Given the description of an element on the screen output the (x, y) to click on. 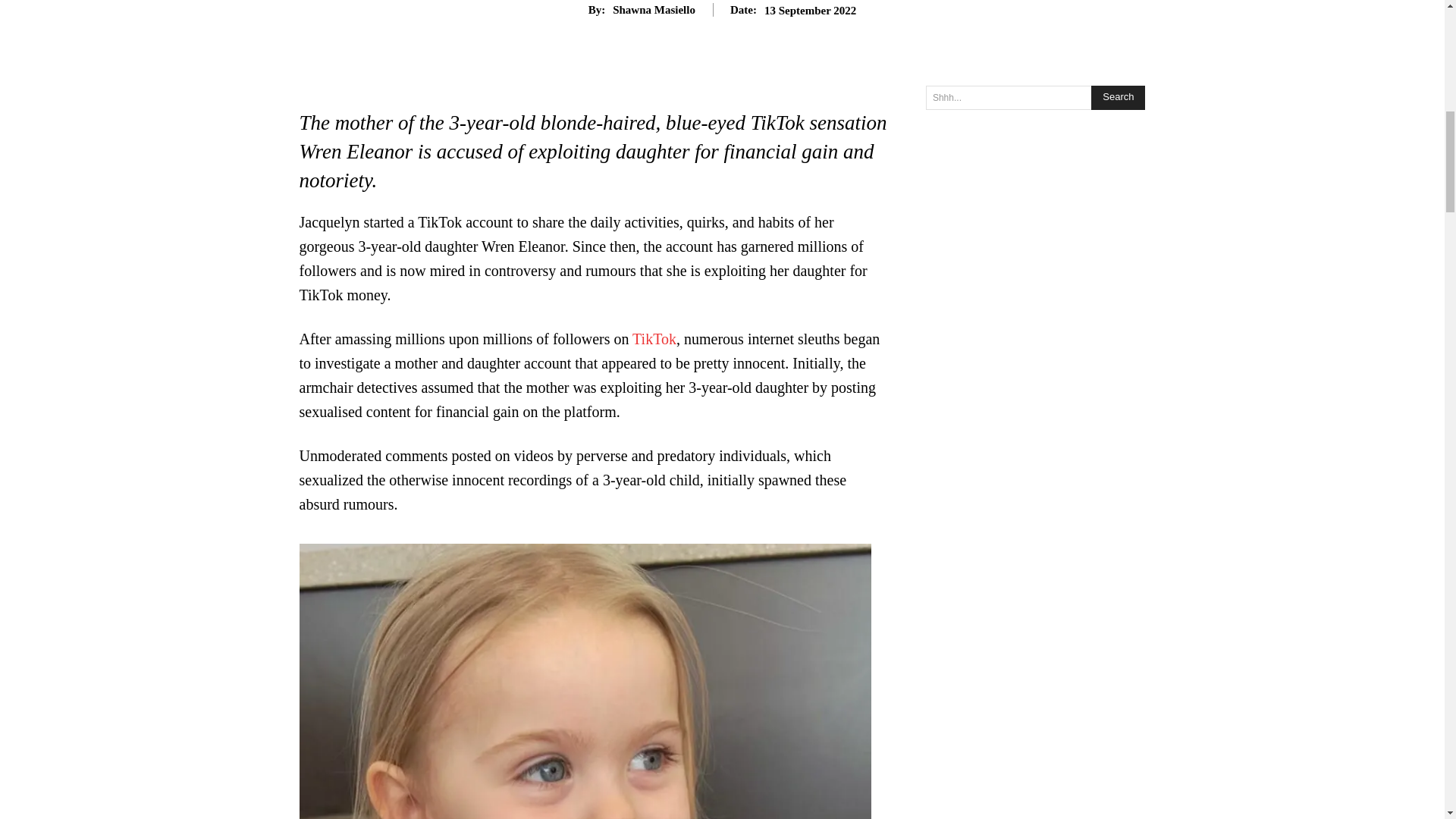
TikTok (654, 338)
Shawna Masiello (653, 9)
Search (1117, 97)
